Given the description of an element on the screen output the (x, y) to click on. 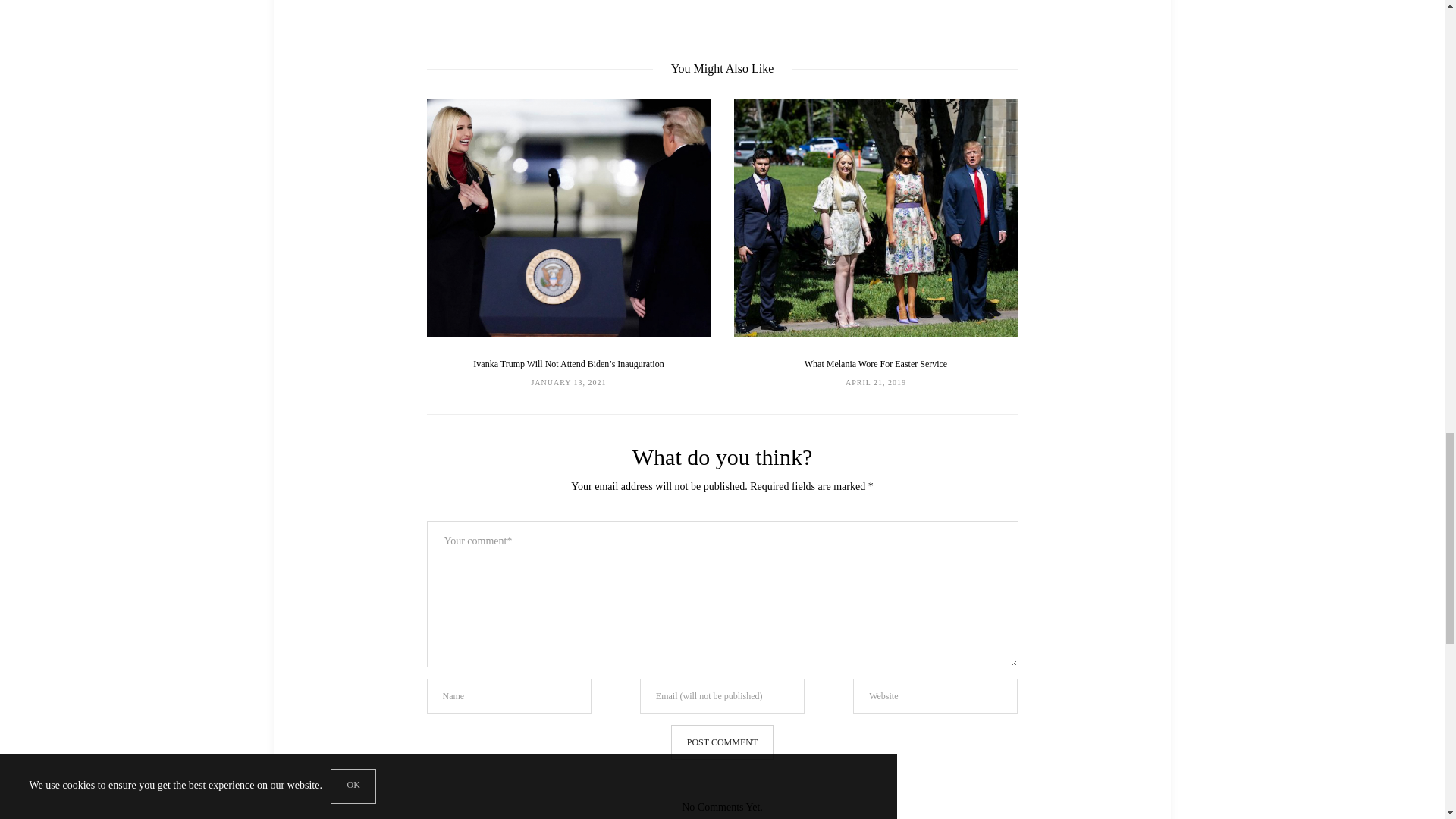
Post comment (722, 742)
